Given the description of an element on the screen output the (x, y) to click on. 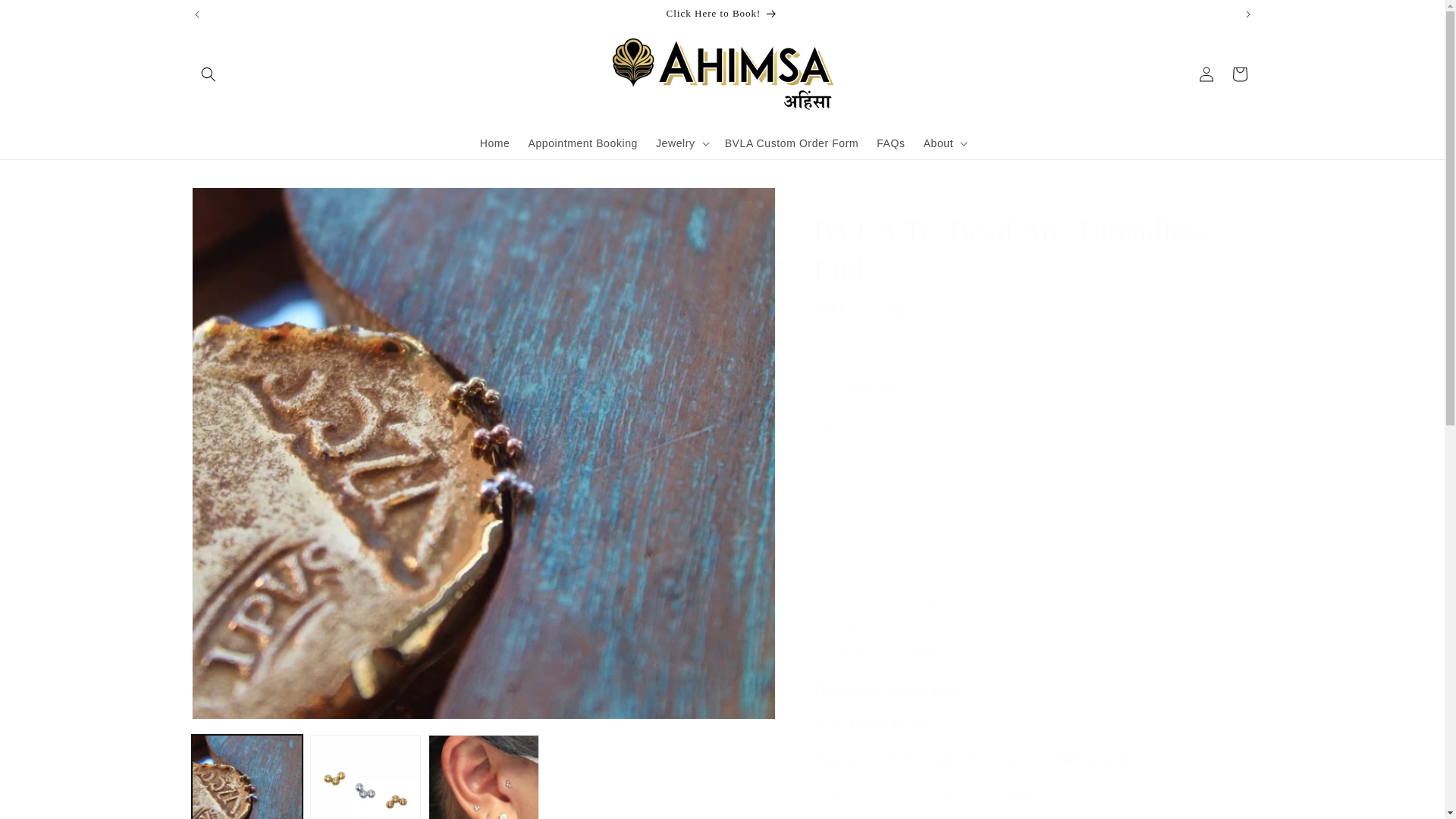
1 (866, 457)
Skip to content (45, 17)
Home (494, 142)
Appointment Booking (582, 142)
FAQs (890, 142)
BVLA Custom Order Form (791, 142)
Click Here to Book! (722, 14)
